Given the description of an element on the screen output the (x, y) to click on. 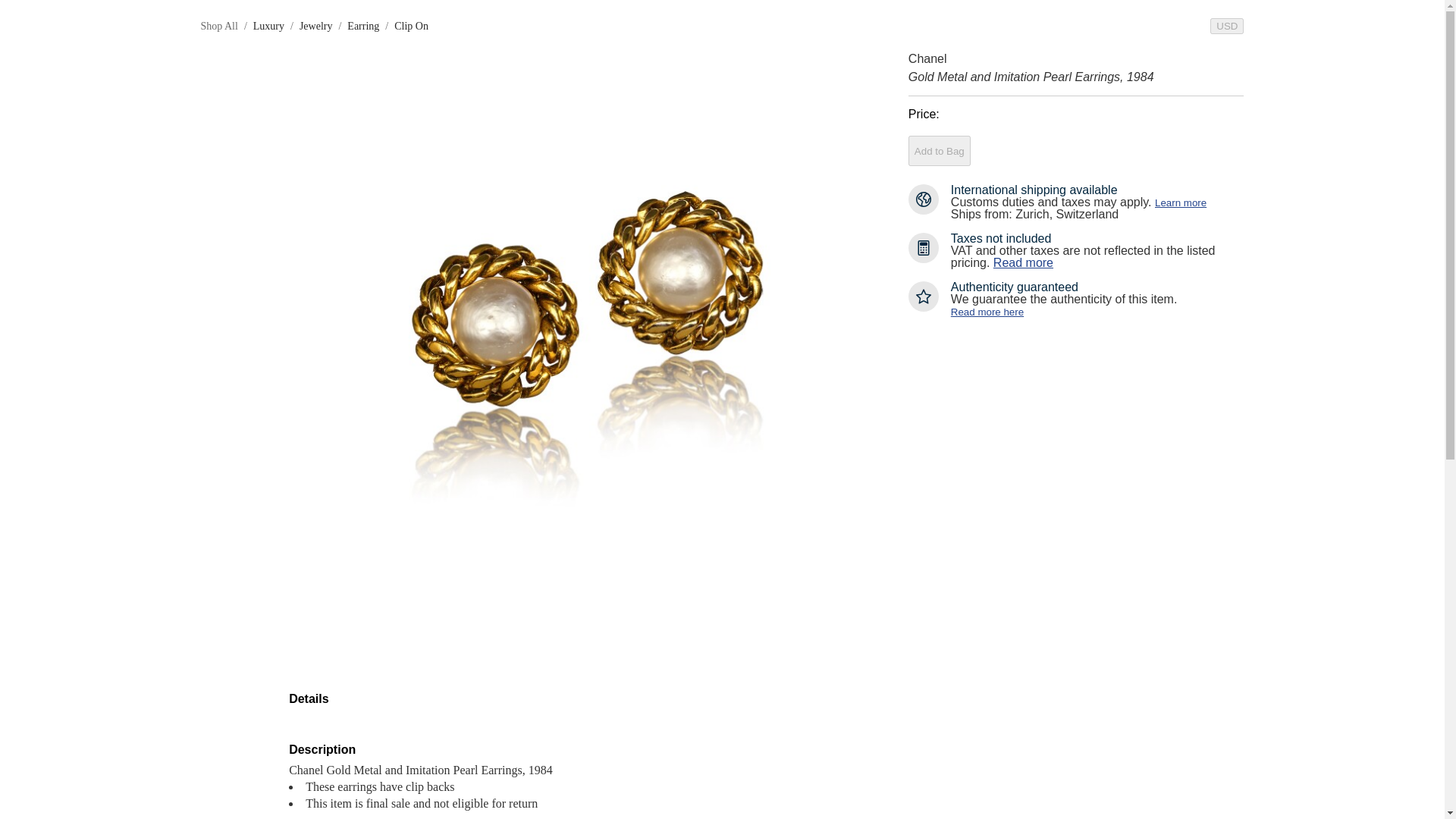
Add to Bag (939, 150)
Read more here (986, 311)
USD (1226, 26)
Read more (1022, 262)
Shop All (218, 25)
Learn more (1180, 202)
